Given the description of an element on the screen output the (x, y) to click on. 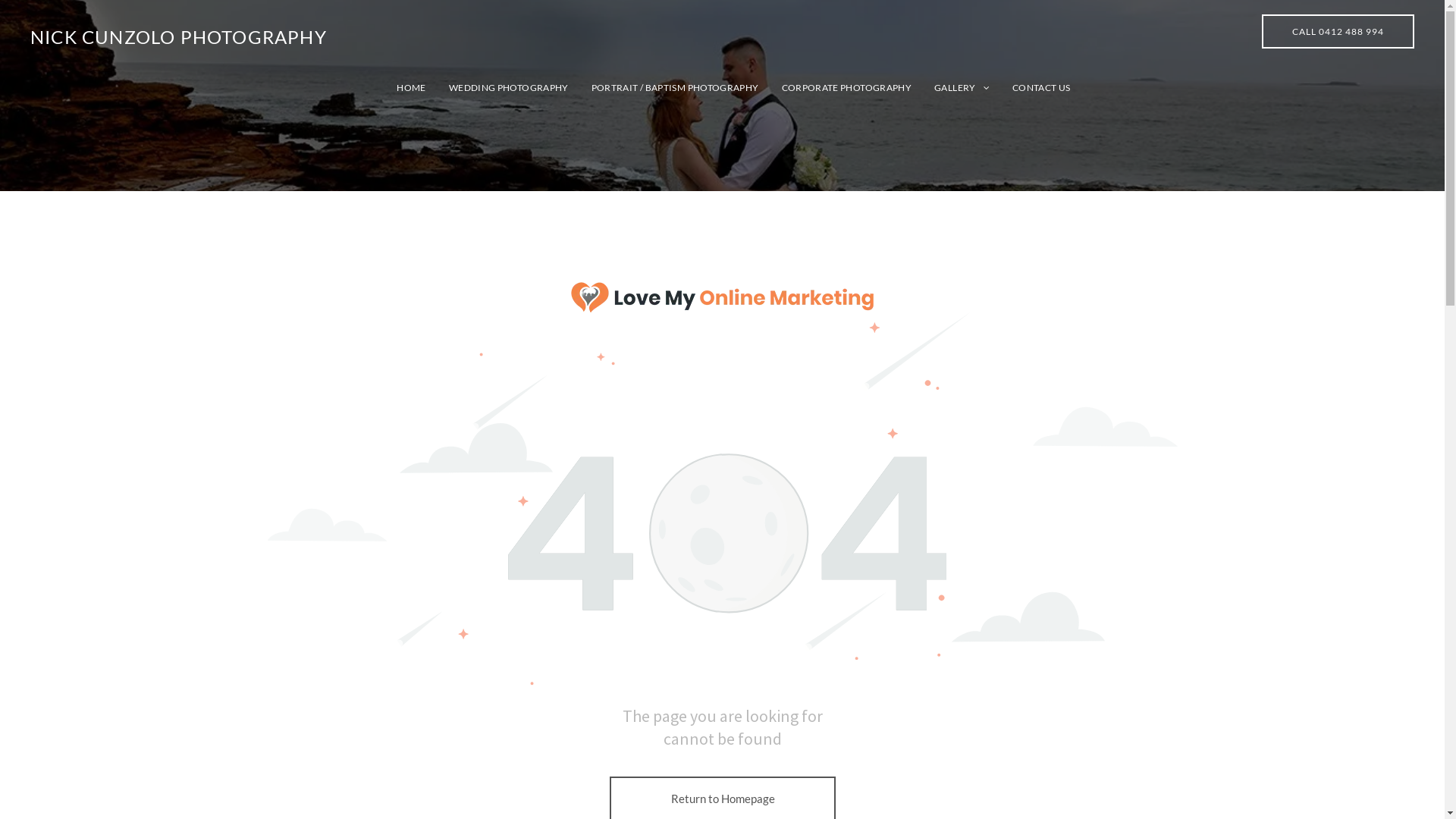
GALLERY Element type: text (950, 87)
PORTRAIT / BAPTISM PHOTOGRAPHY Element type: text (663, 87)
CALL 0412 488 994 Element type: text (1337, 31)
CONTACT US Element type: text (1029, 87)
HOME Element type: text (399, 87)
WEDDING PHOTOGRAPHY Element type: text (497, 87)
CORPORATE PHOTOGRAPHY Element type: text (834, 87)
